Given the description of an element on the screen output the (x, y) to click on. 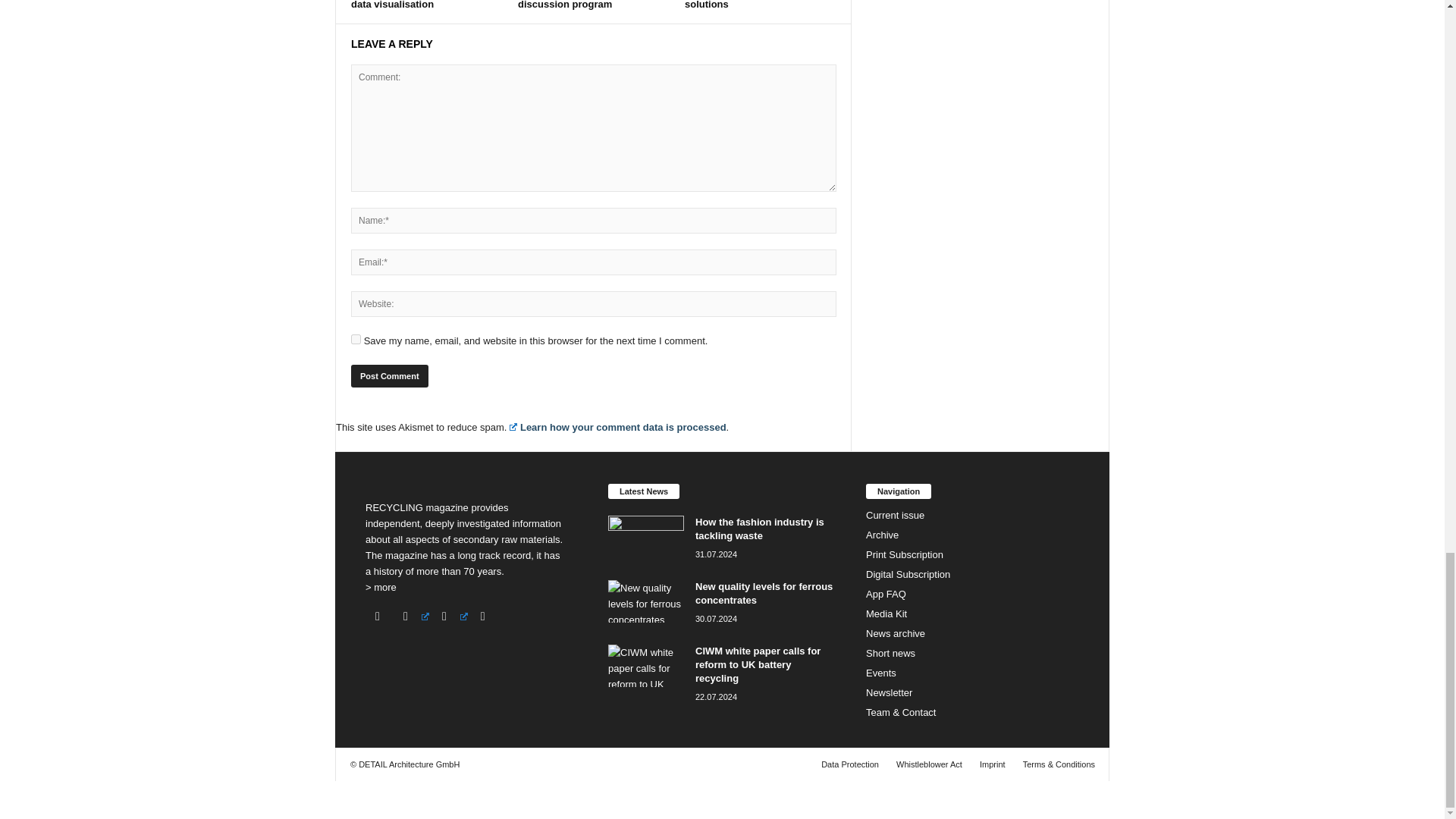
Post Comment (389, 375)
yes (355, 338)
